Given the description of an element on the screen output the (x, y) to click on. 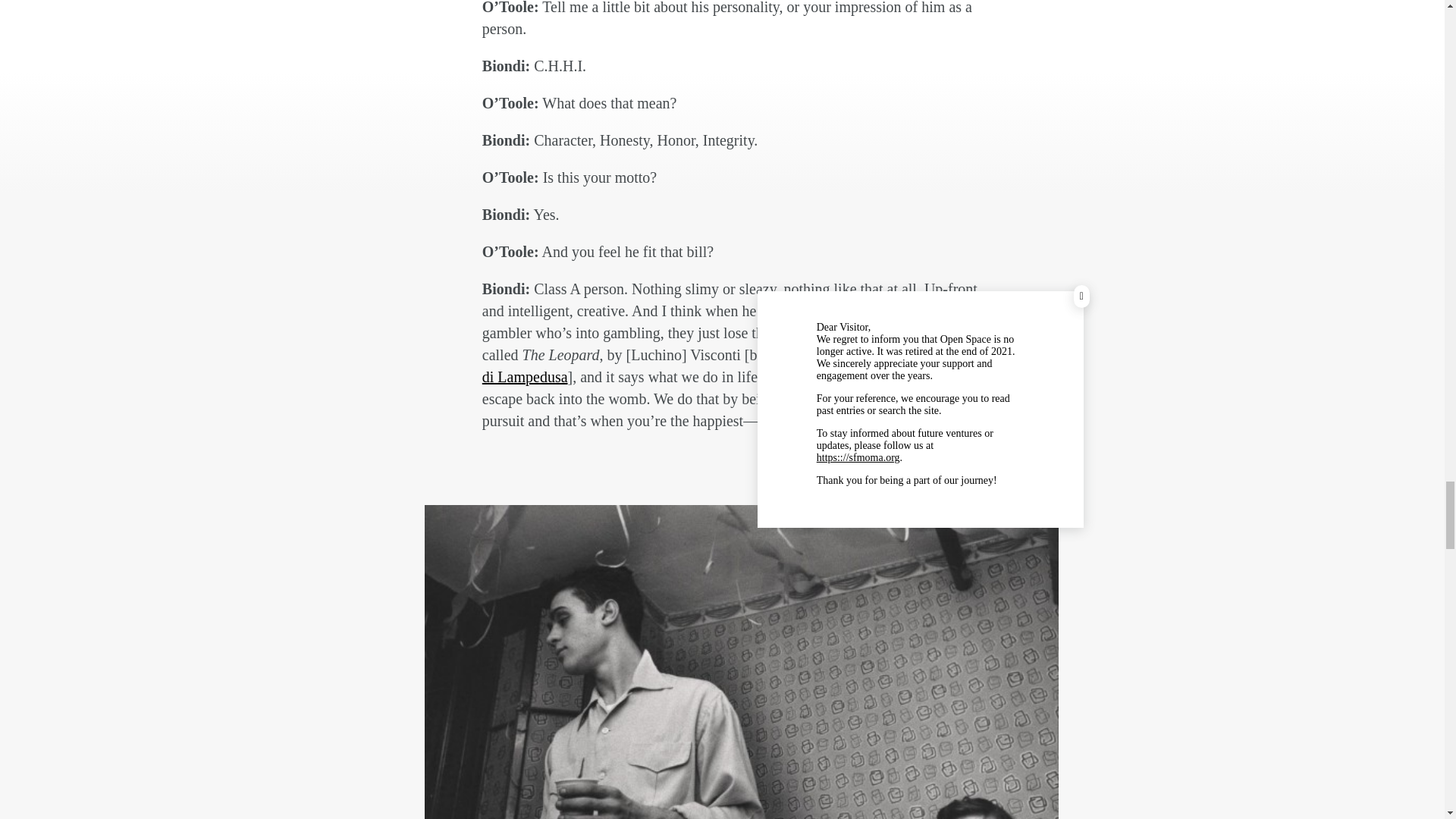
Giuseppe Tomasi di Lampedusa (736, 365)
